Given the description of an element on the screen output the (x, y) to click on. 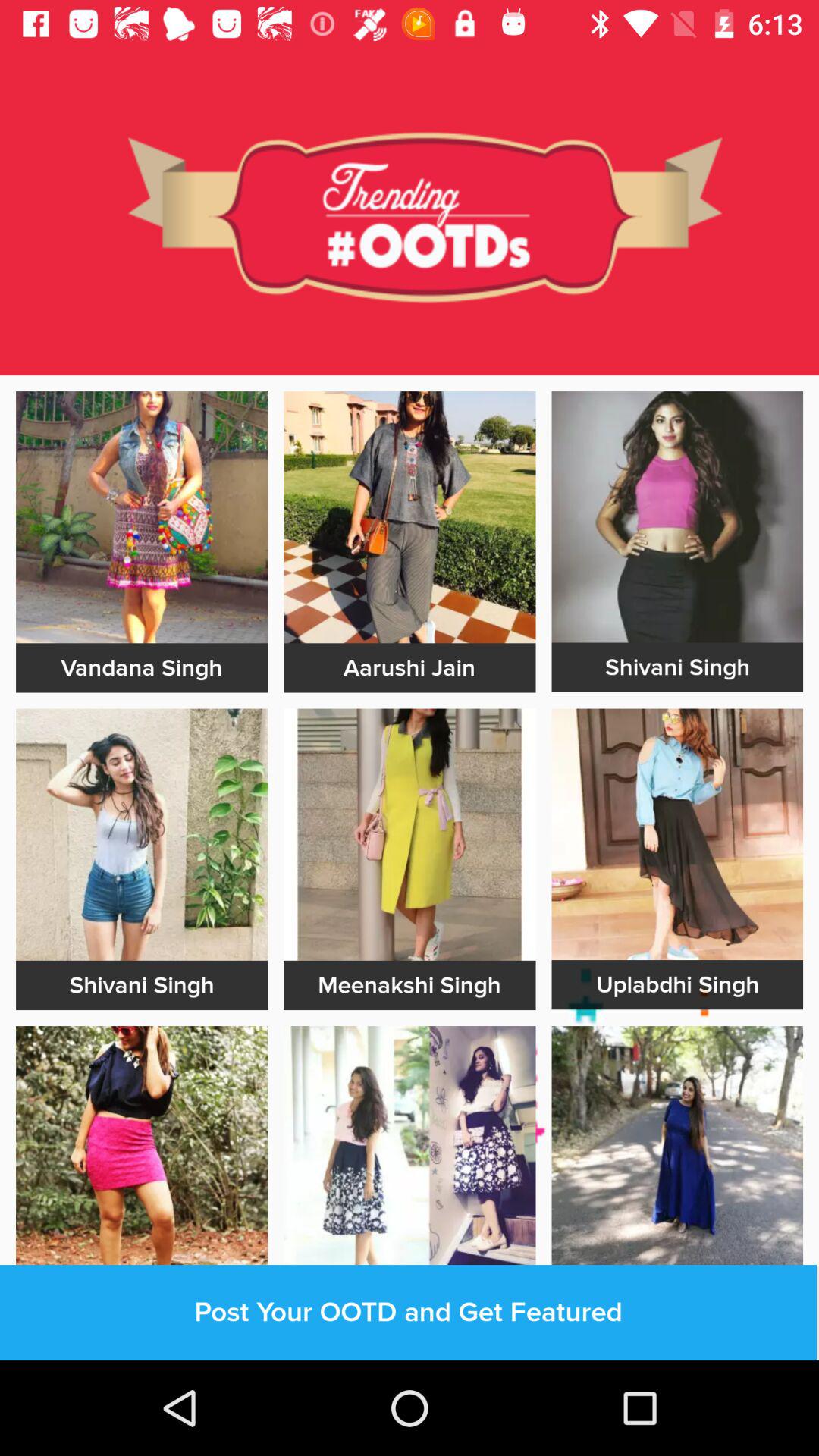
fashion page (141, 517)
